Given the description of an element on the screen output the (x, y) to click on. 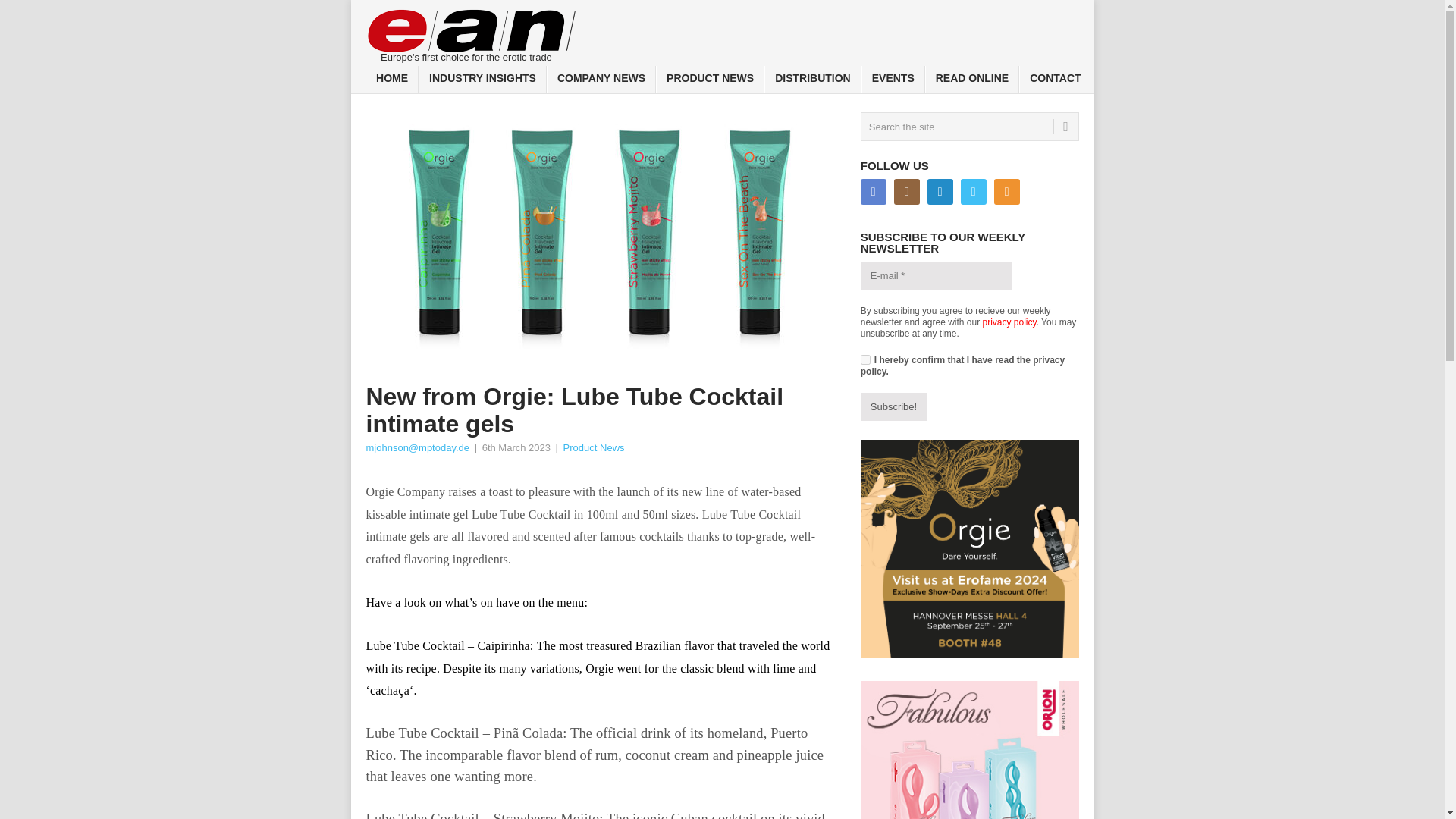
Europe's first choice for the erotic trade (472, 32)
HOME (392, 80)
PRODUCT NEWS (710, 80)
READ ONLINE (971, 80)
RSS (1007, 191)
DISTRIBUTION (812, 80)
EVENTS (892, 80)
Product News (593, 447)
Search the site (969, 126)
CONTACT (1054, 80)
COMPANY NEWS (601, 80)
INDUSTRY INSIGHTS (483, 80)
Instagram (906, 191)
Twitter (973, 191)
Subscribe! (893, 407)
